Given the description of an element on the screen output the (x, y) to click on. 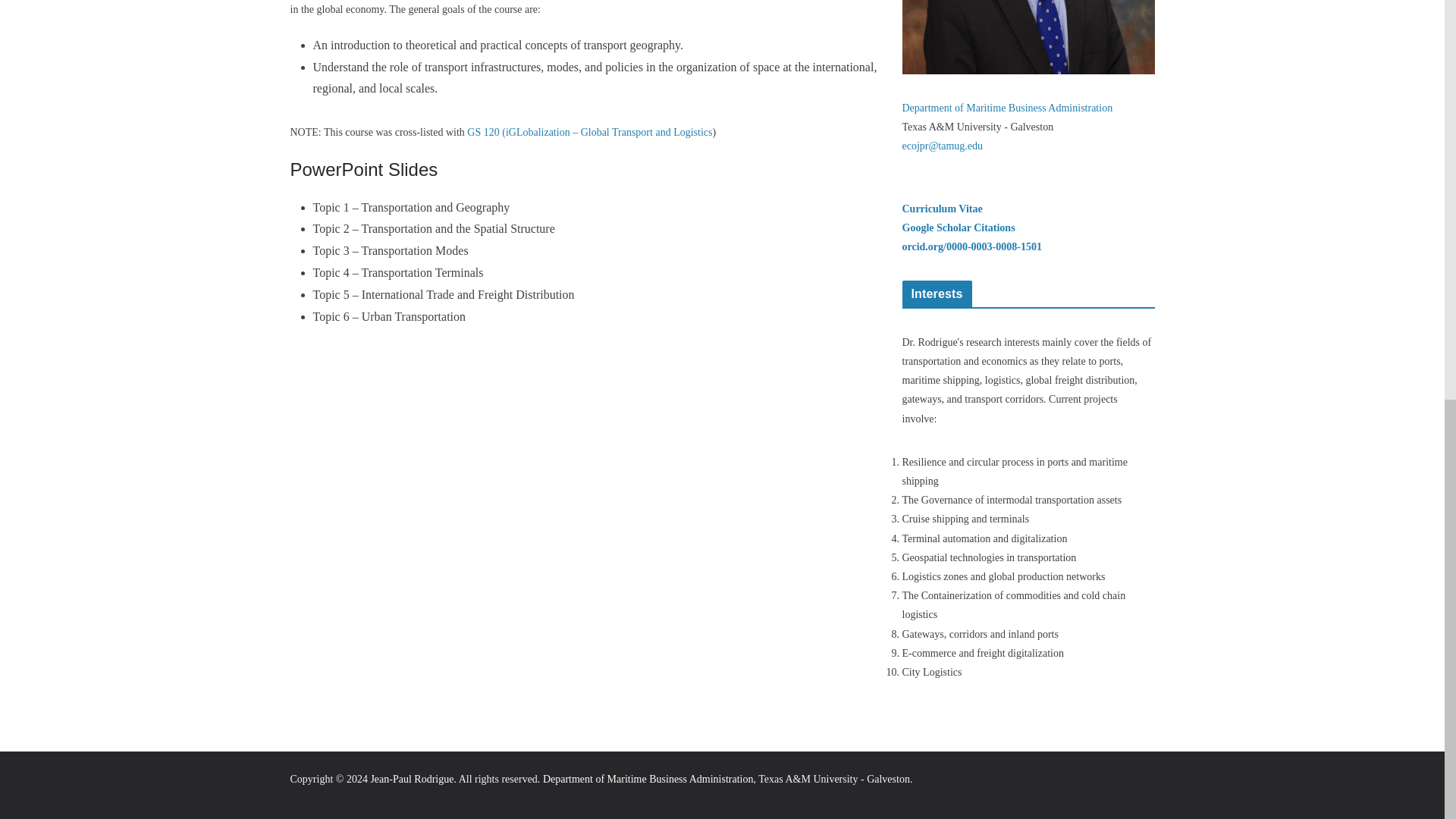
Jean-Paul Rodrigue (410, 778)
Curriculum Vitae (942, 208)
Department of Maritime Business Administration (648, 778)
Department of Maritime Business Administration (1007, 107)
Google Scholar Citations (958, 227)
Jean-Paul Rodrigue (410, 778)
